Given the description of an element on the screen output the (x, y) to click on. 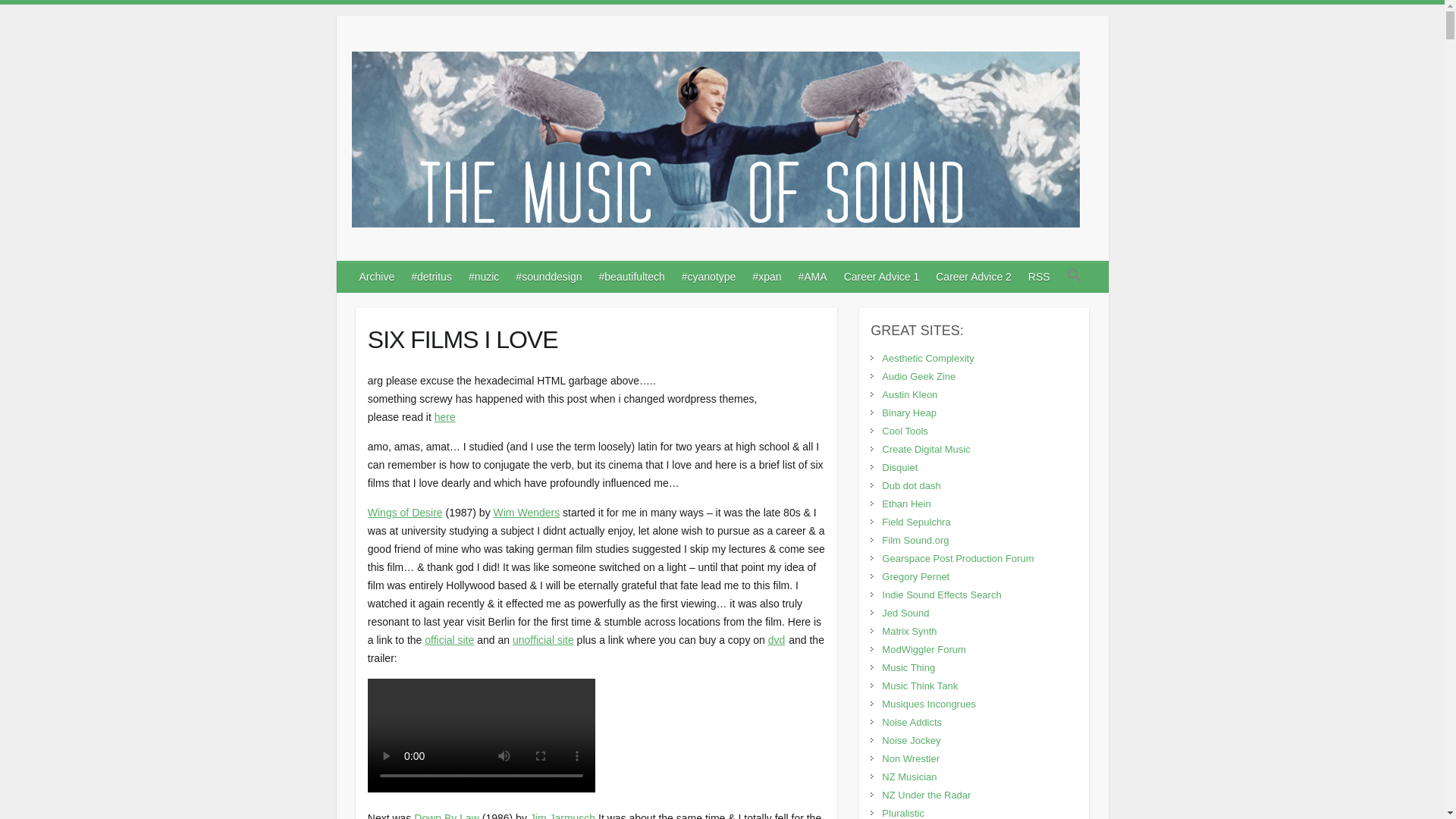
SIX FILMS I LOVE (596, 336)
SIX FILMS I LOVE (596, 336)
official site (449, 639)
Wings of Desire (405, 512)
Archive (378, 276)
RSS (1039, 276)
Career Advice 1 (881, 276)
Music of Sound (716, 142)
Career Advice 2 (974, 276)
Jim Jarmusch (562, 815)
Wim Wenders (526, 512)
Down By Law (446, 815)
dvd (777, 639)
unofficial site (542, 639)
here (444, 417)
